Given the description of an element on the screen output the (x, y) to click on. 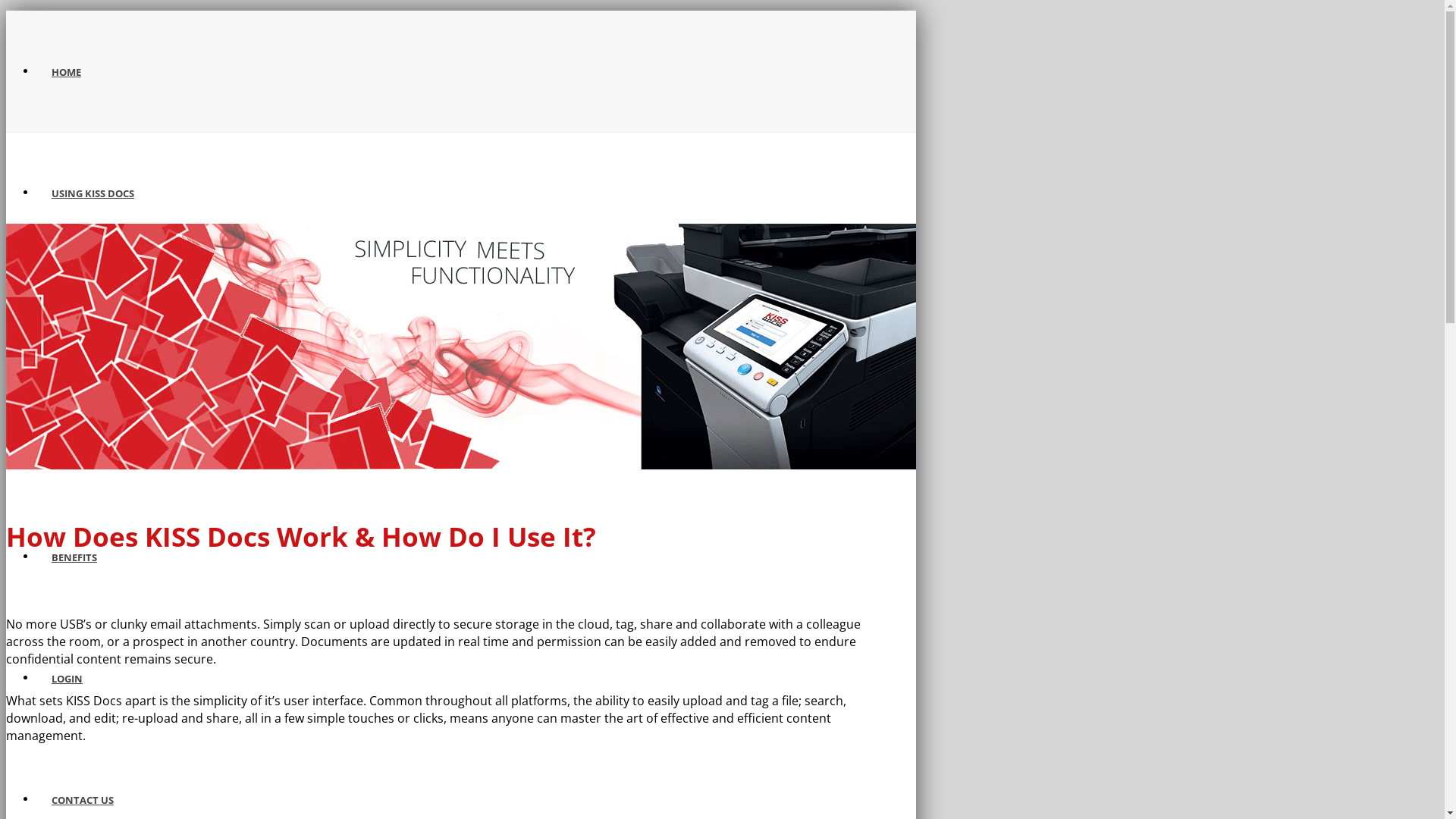
BENEFITS Element type: text (74, 557)
CONTACT US Element type: text (82, 799)
HOME Element type: text (66, 71)
WHAT IS OCR? Element type: text (85, 314)
DEVICE COMPATIBILITY Element type: text (106, 435)
USING KISS DOCS Element type: text (92, 193)
LOGIN Element type: text (66, 678)
